Given the description of an element on the screen output the (x, y) to click on. 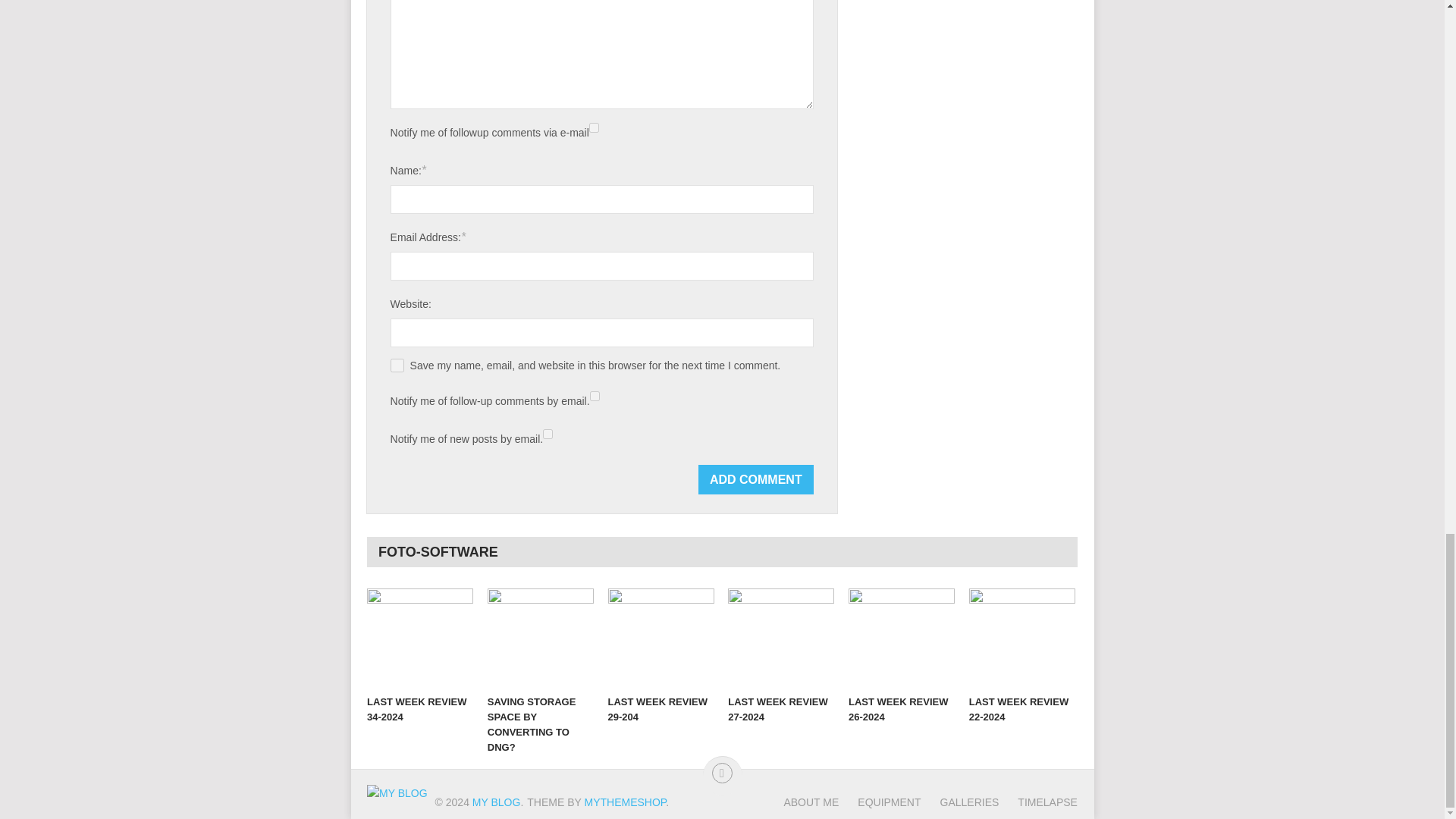
yes (397, 365)
subscribe (548, 433)
subscribe (593, 127)
Add Comment (755, 479)
subscribe (594, 396)
